Given the description of an element on the screen output the (x, y) to click on. 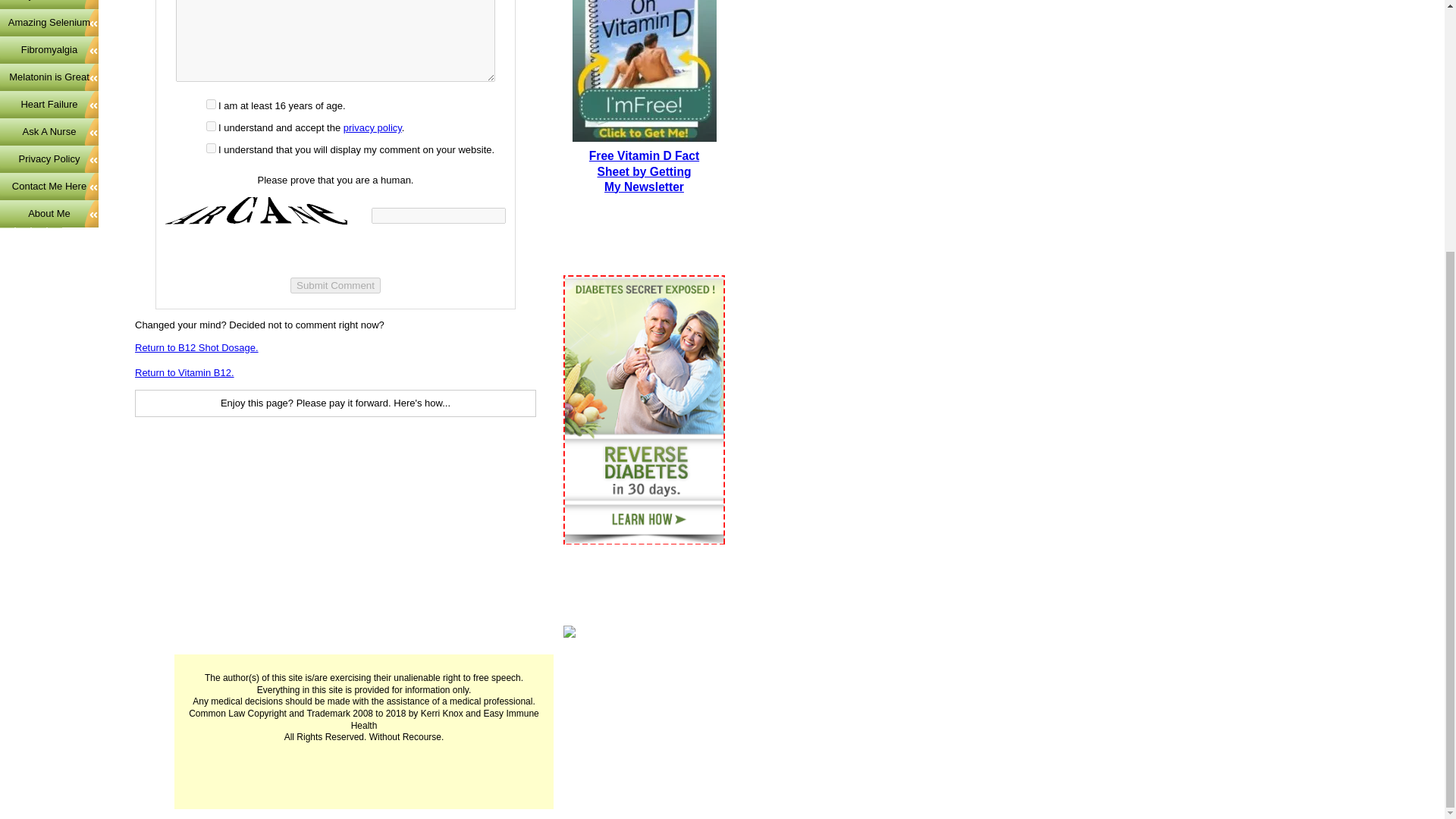
Heart Failure (49, 103)
Melatonin is Great (49, 76)
Fibromyalgia (49, 49)
1 (210, 103)
Privacy Policy (49, 158)
1 (643, 171)
Return to B12 Shot Dosage. (210, 148)
Submit Comment (197, 347)
About Me (334, 285)
Return to Vitamin B12. (49, 213)
1 (184, 372)
Contact Me Here (210, 126)
H Pylori Infection (49, 185)
privacy policy (49, 4)
